Given the description of an element on the screen output the (x, y) to click on. 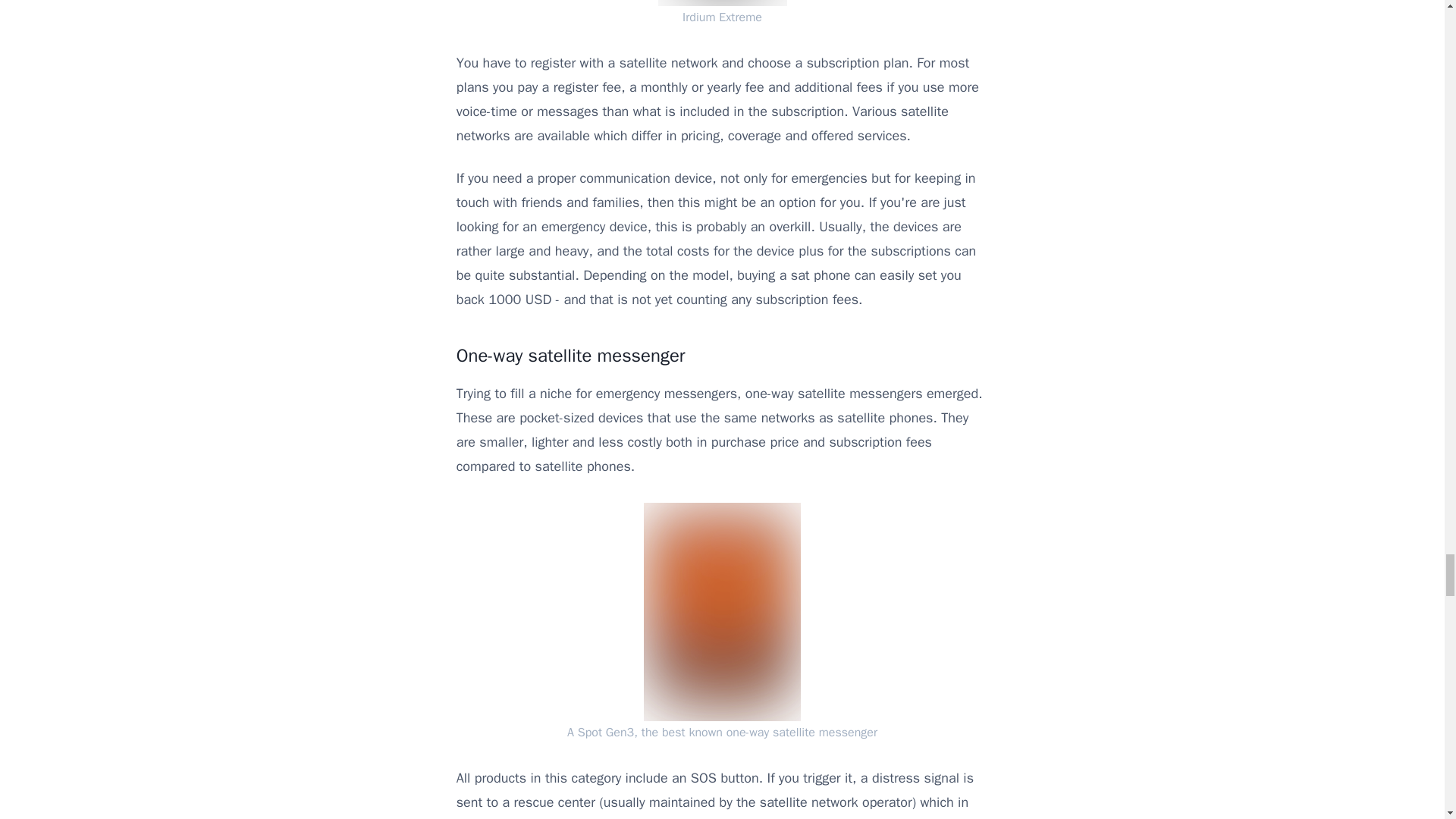
Irdium Extreme (722, 13)
